Given the description of an element on the screen output the (x, y) to click on. 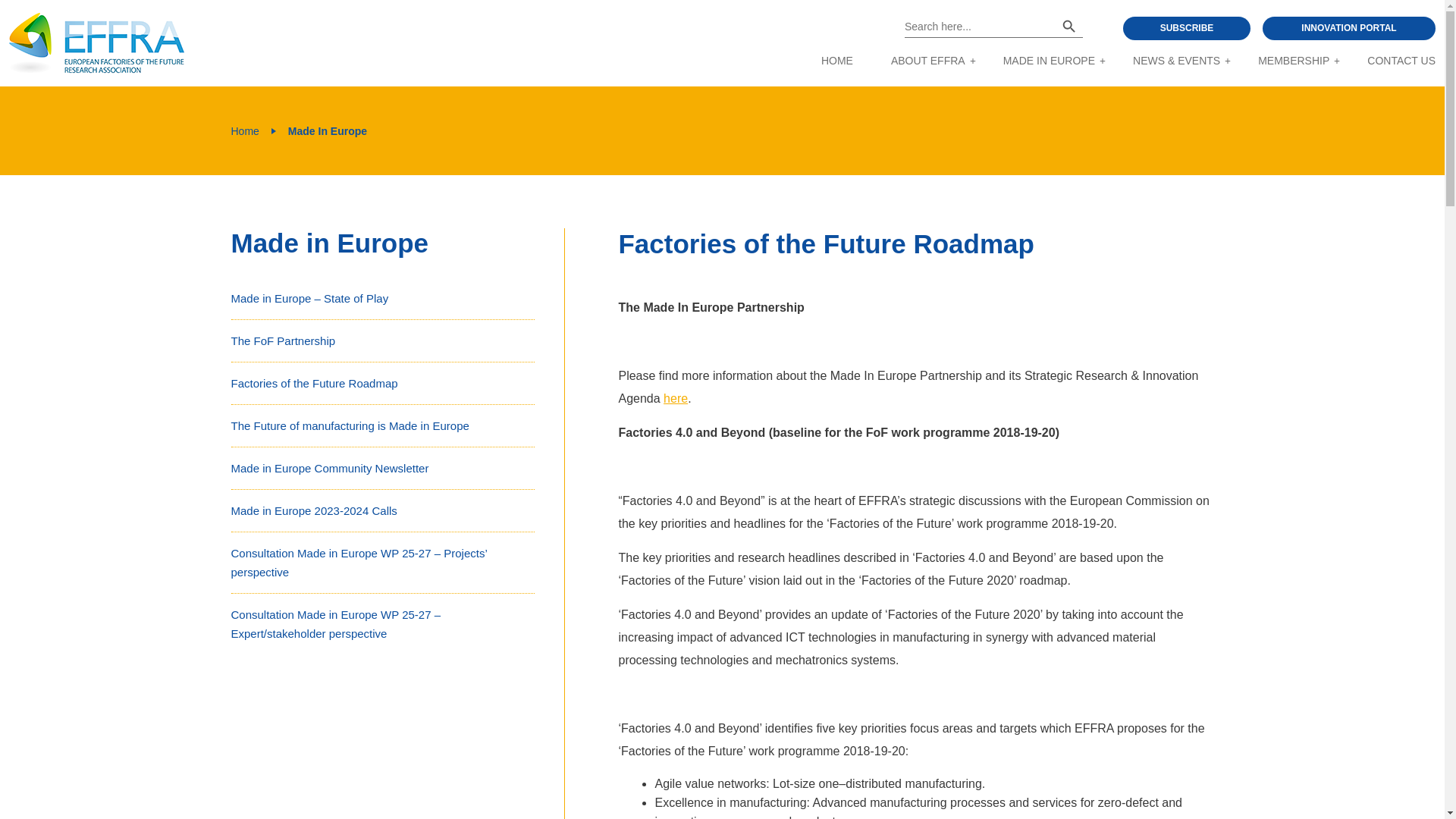
INNOVATION PORTAL (1348, 28)
HOME (837, 60)
CONTACT US (1401, 60)
Search Button (1069, 26)
MADE IN EUROPE (1048, 60)
Home (244, 130)
Factories of the Future Roadmap (313, 382)
The FoF Partnership (282, 340)
Made in Europe Community Newsletter (329, 468)
SUBSCRIBE (1186, 28)
MEMBERSHIP (1293, 60)
Made in Europe 2023-2024 Calls (313, 510)
The Future of manufacturing is Made in Europe (349, 425)
ABOUT EFFRA (928, 60)
